Given the description of an element on the screen output the (x, y) to click on. 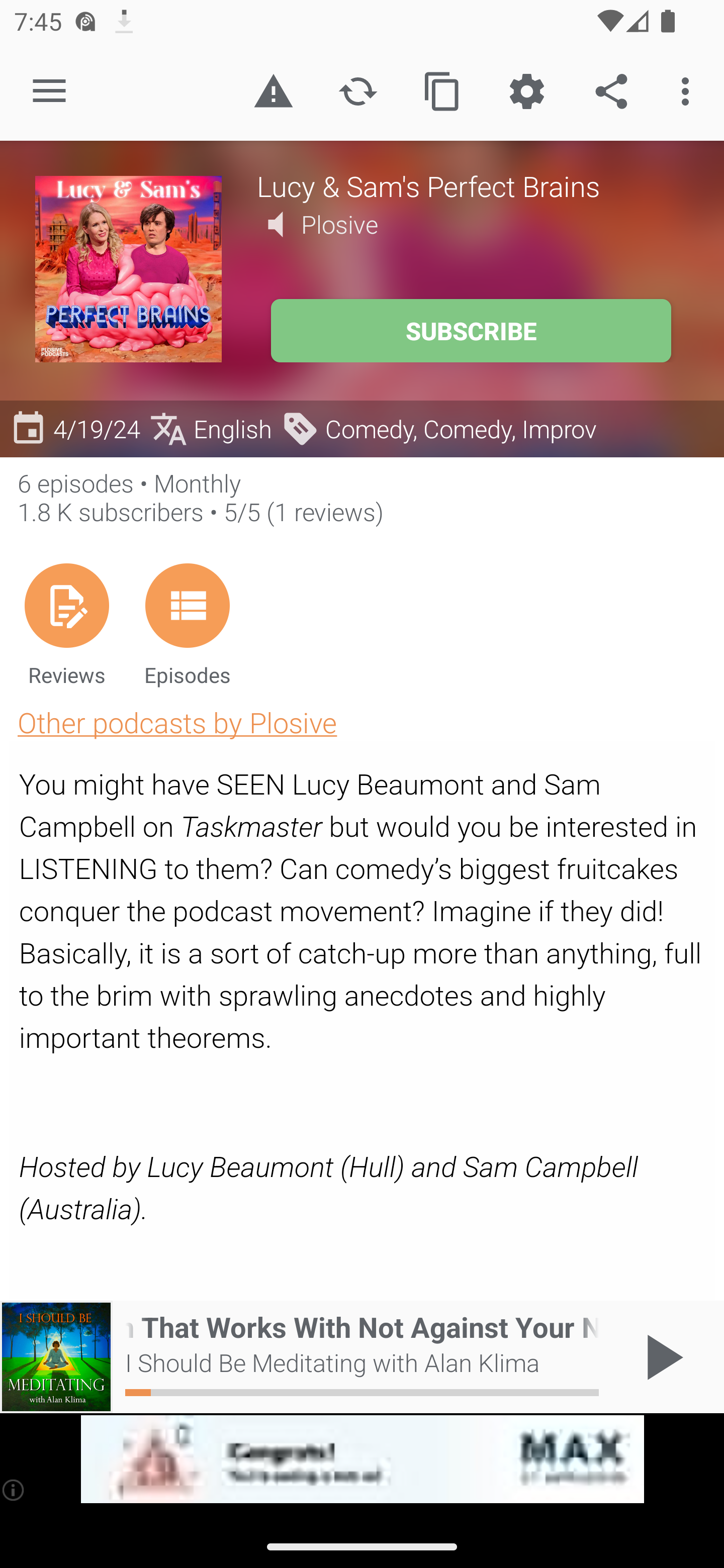
Open navigation sidebar (49, 91)
Report inappropriate content (272, 90)
Refresh podcast description (357, 90)
Copy feed url to clipboard (442, 90)
Custom Settings (526, 90)
Share the podcast (611, 90)
More options (688, 90)
Lucy & Sam's Perfect Brains (472, 185)
Plosive (339, 223)
SUBSCRIBE (470, 330)
Comedy, Comedy, Improv (438, 428)
Reviews (66, 623)
Episodes (187, 623)
Other podcasts by Plosive (177, 721)
Play / Pause (660, 1356)
app-monetization (362, 1459)
(i) (14, 1489)
